Given the description of an element on the screen output the (x, y) to click on. 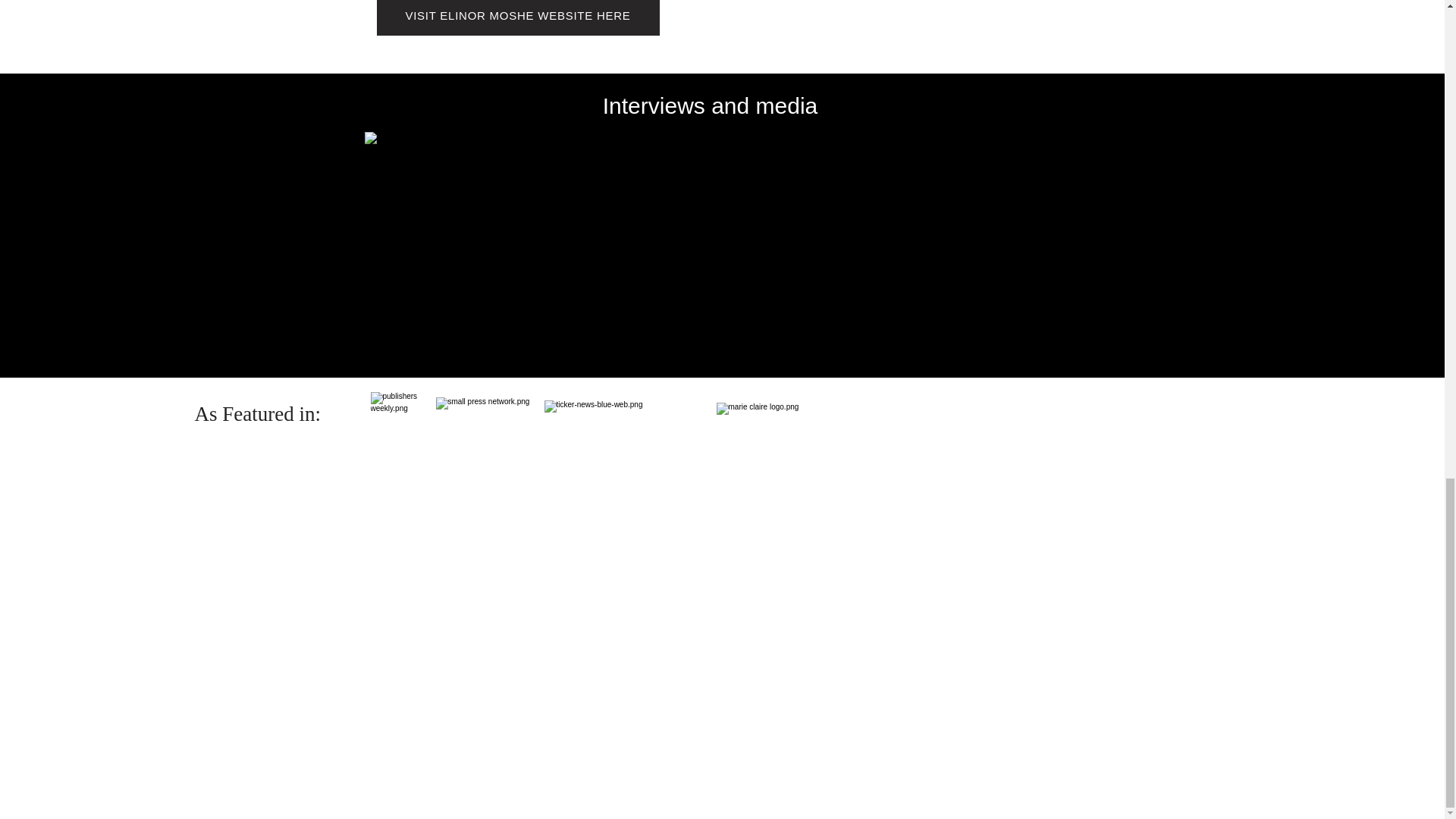
VISIT ELINOR MOSHE WEBSITE HERE (517, 18)
